Given the description of an element on the screen output the (x, y) to click on. 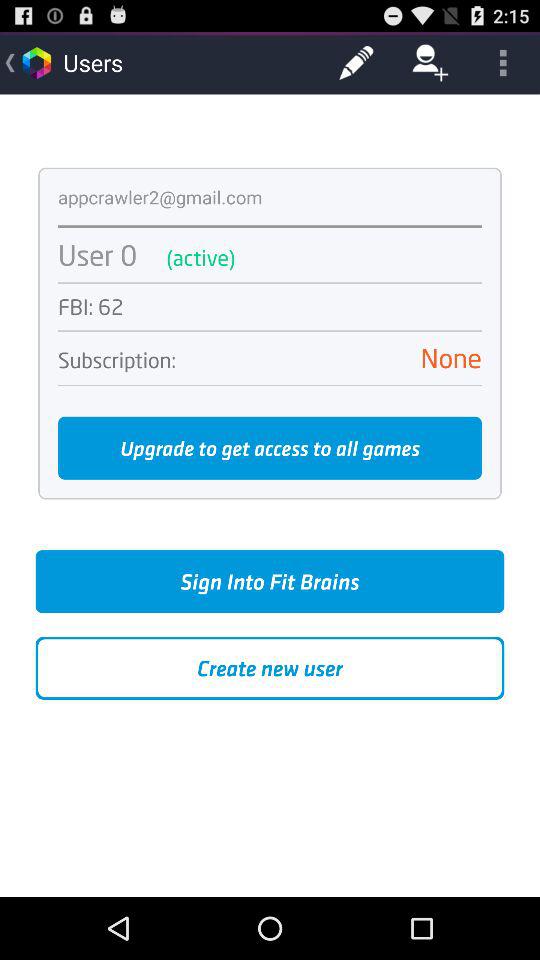
turn on the app next to the (active) (97, 254)
